Given the description of an element on the screen output the (x, y) to click on. 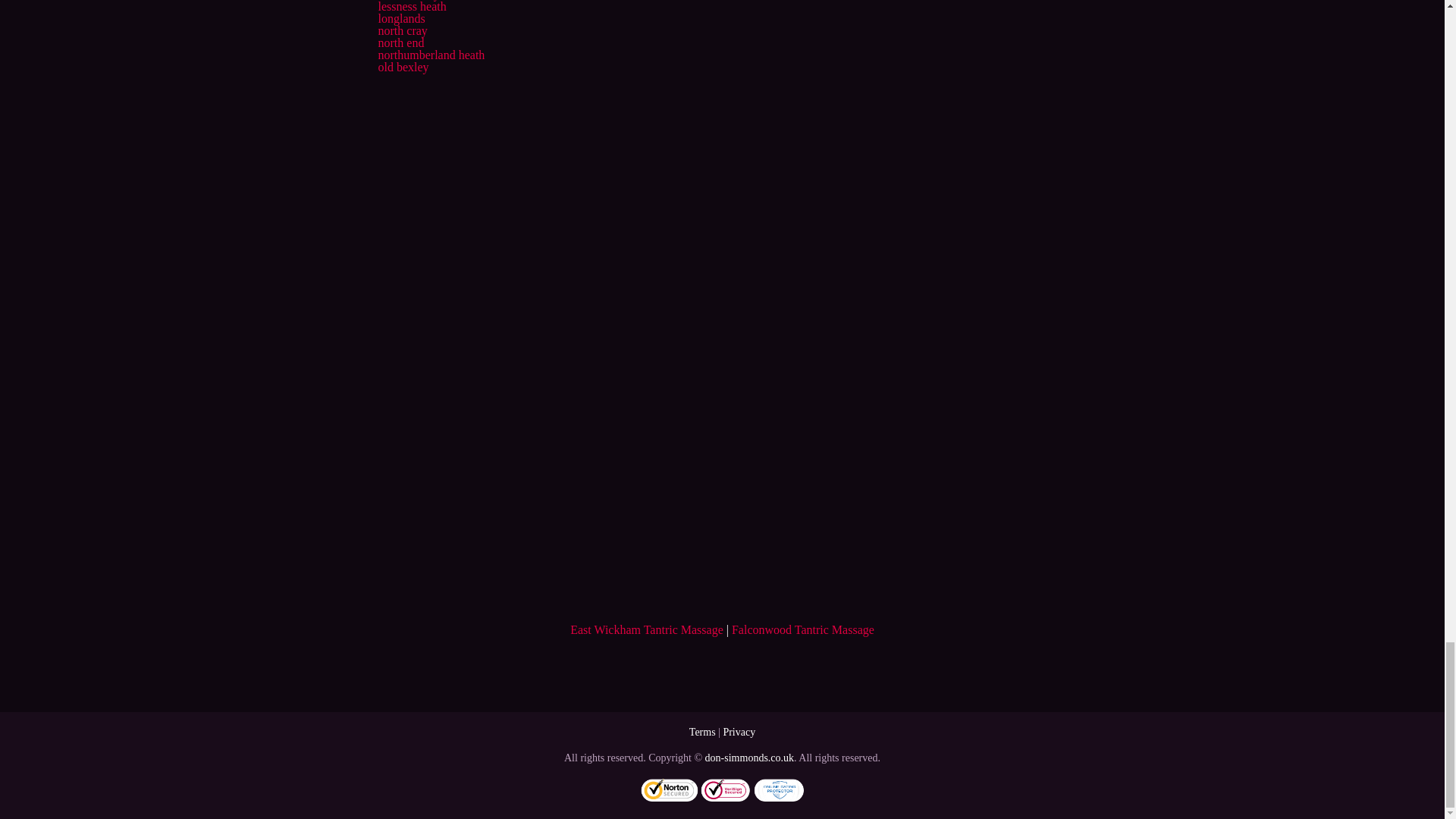
northumberland heath (430, 54)
Terms (702, 731)
old bexley (402, 66)
don-simmonds.co.uk (748, 757)
north end (400, 42)
lessness heath (411, 6)
longlands (401, 18)
lesnes abbey (408, 0)
Falconwood Tantric Massage (803, 629)
East Wickham Tantric Massage (646, 629)
Terms (702, 731)
north cray (401, 30)
Privacy (738, 731)
Privacy (738, 731)
